Given the description of an element on the screen output the (x, y) to click on. 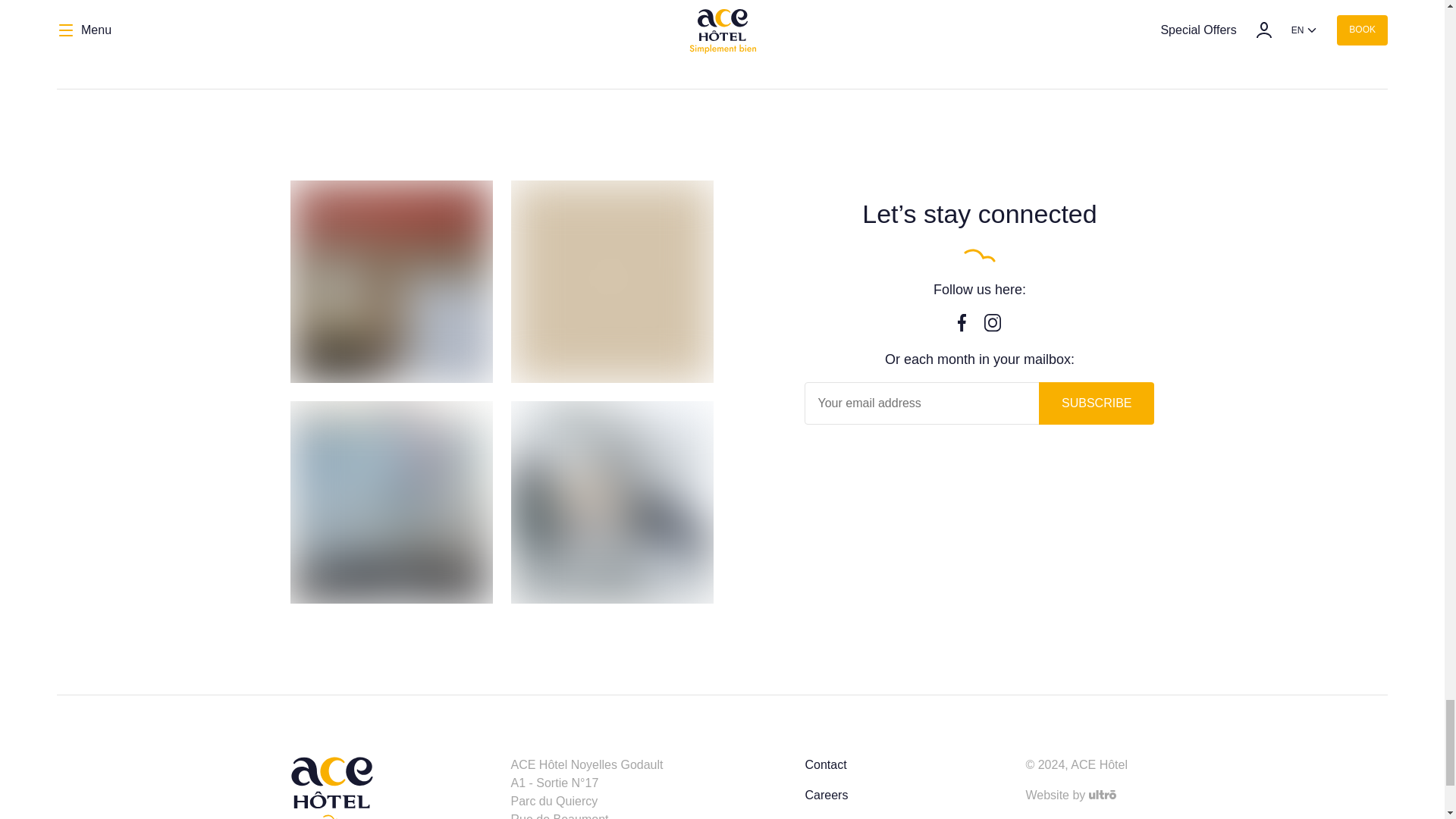
SUBSCRIBE (1096, 403)
Contact (825, 765)
Careers (826, 795)
